Given the description of an element on the screen output the (x, y) to click on. 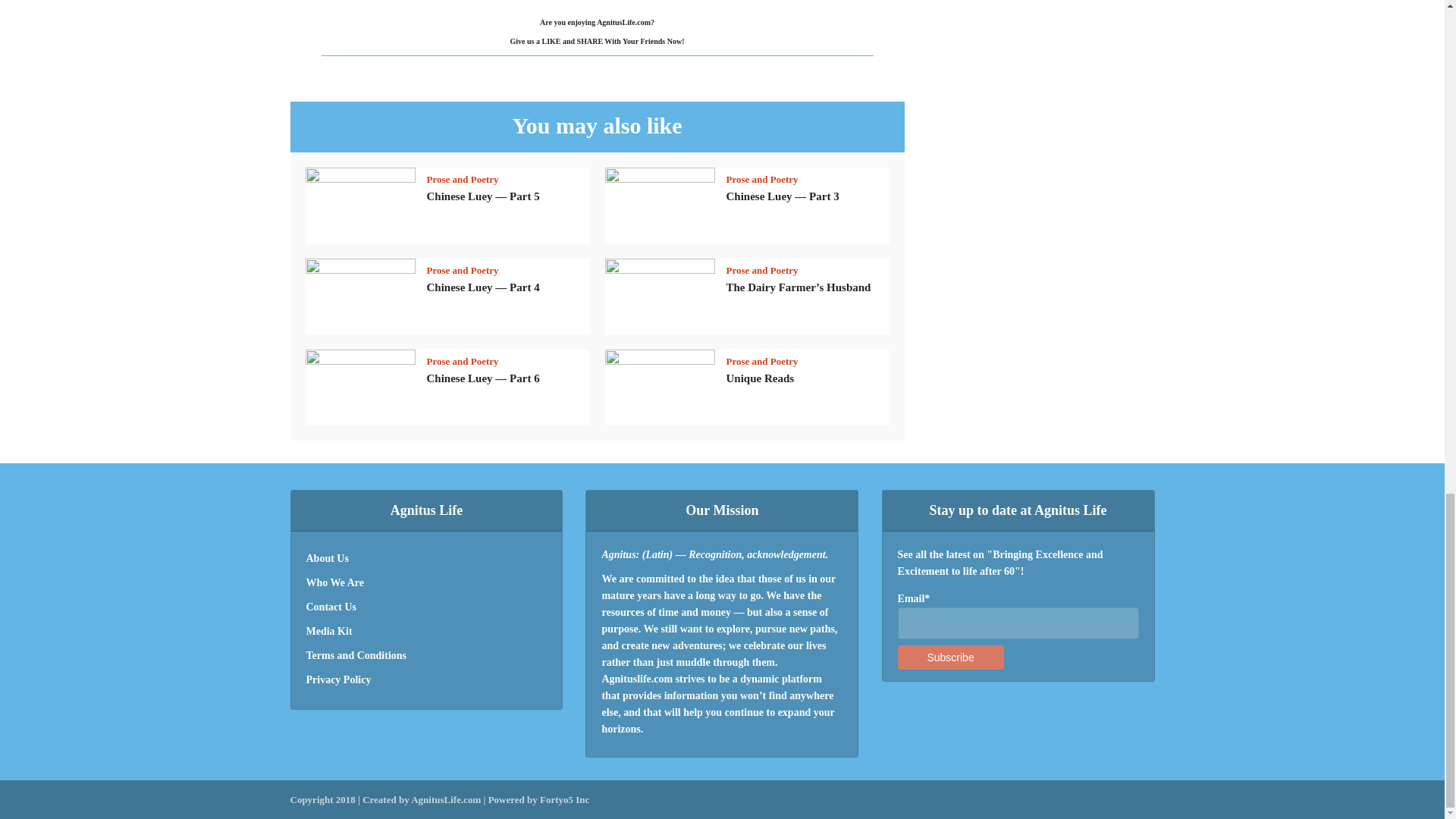
Subscribe (951, 657)
Prose and Poetry (761, 179)
Unique Reads (760, 378)
Prose and Poetry (761, 270)
Unique Reads (760, 378)
Prose and Poetry (461, 360)
Prose and Poetry (461, 179)
Prose and Poetry (461, 270)
Prose and Poetry (761, 360)
